Given the description of an element on the screen output the (x, y) to click on. 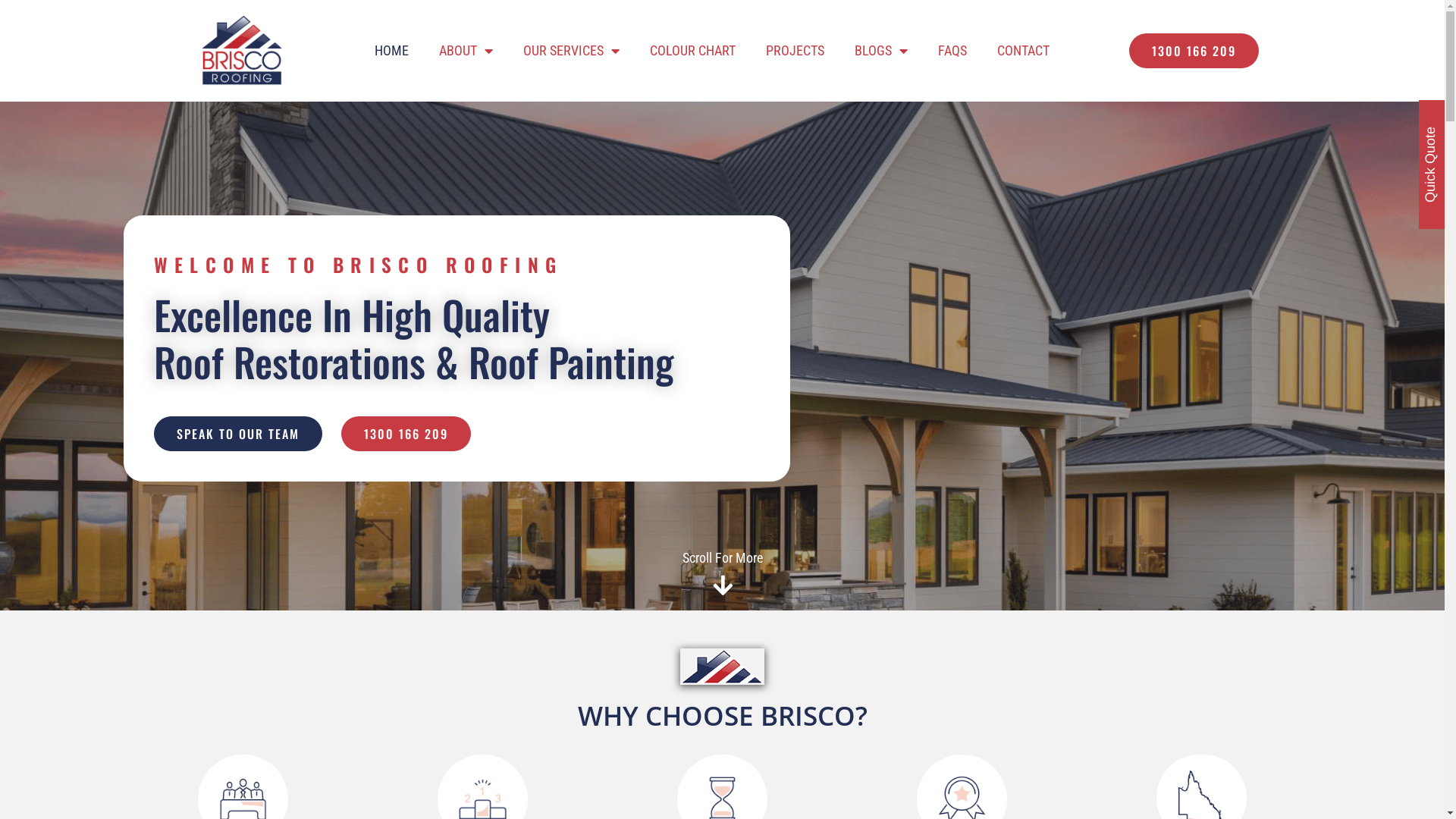
Scroll For More Element type: text (722, 557)
1300 166 209 Element type: text (1193, 50)
BLOGS Element type: text (880, 50)
1300 166 209 Element type: text (405, 433)
COLOUR CHART Element type: text (692, 50)
OUR SERVICES Element type: text (571, 50)
SPEAK TO OUR TEAM Element type: text (237, 433)
HOME Element type: text (391, 50)
ABOUT Element type: text (465, 50)
FAQS Element type: text (952, 50)
CONTACT Element type: text (1023, 50)
PROJECTS Element type: text (794, 50)
